Given the description of an element on the screen output the (x, y) to click on. 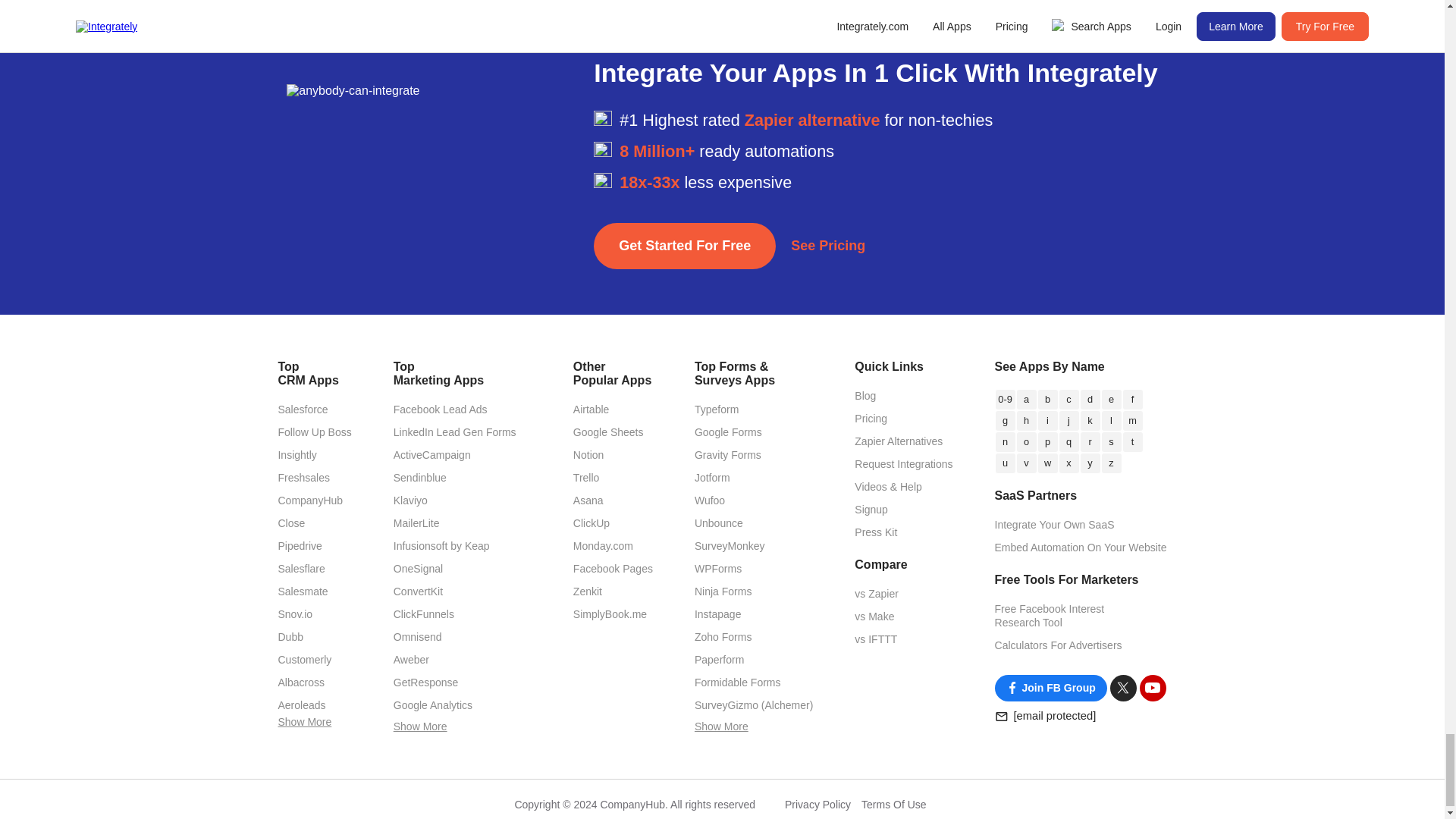
Pipedrive (299, 545)
Close (291, 522)
Snov.io (295, 613)
Insightly (296, 454)
Albacross (300, 682)
Salesmate (302, 591)
Dubb (290, 636)
Salesforce (302, 409)
Freshsales (303, 477)
Salesflare (301, 568)
See Pricing (827, 245)
Follow Up Boss (314, 431)
Customerly (304, 659)
Get Started For Free (685, 245)
CompanyHub (310, 500)
